Given the description of an element on the screen output the (x, y) to click on. 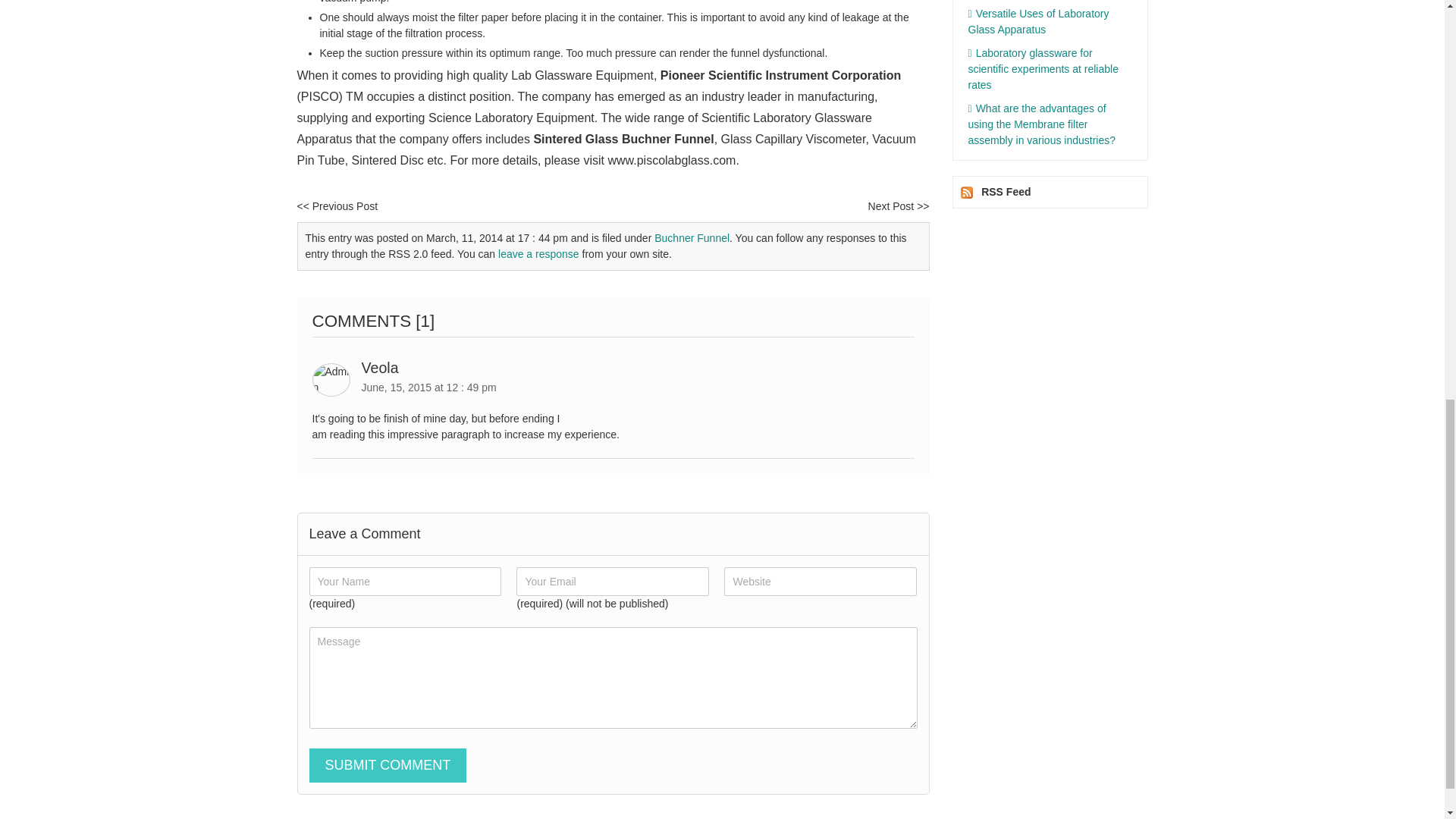
Sintered Glass Buchner Funnel (622, 138)
leave a response (538, 254)
www.piscolabglass.com (671, 160)
Submit Comment (387, 765)
Buchner Funnel (691, 237)
Submit Comment (387, 765)
